Given the description of an element on the screen output the (x, y) to click on. 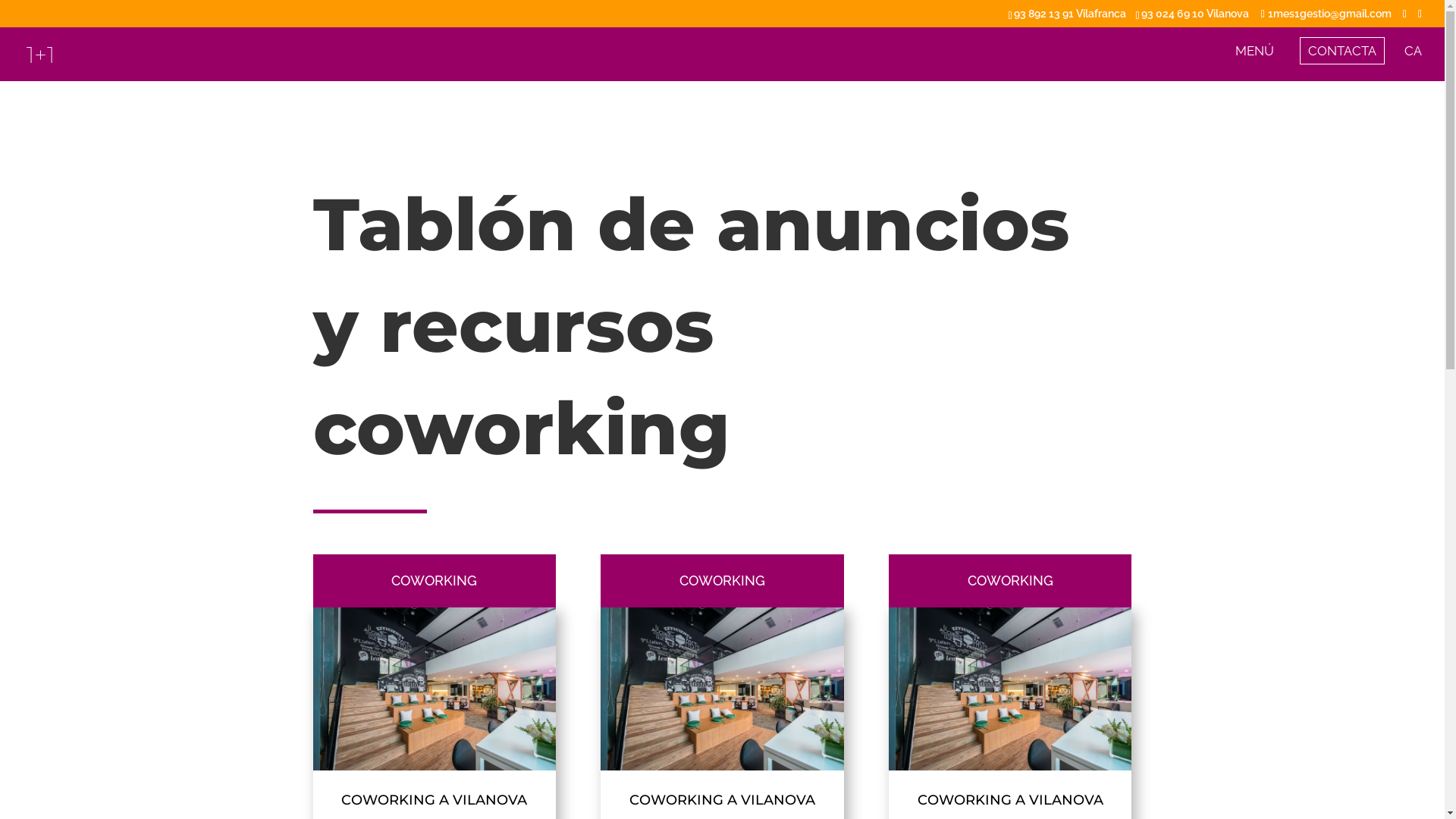
1+1 Element type: text (40, 54)
1mes1gestio@gmail.com Element type: text (1326, 13)
CA Element type: text (1412, 63)
CONTACTA Element type: text (1341, 50)
